Given the description of an element on the screen output the (x, y) to click on. 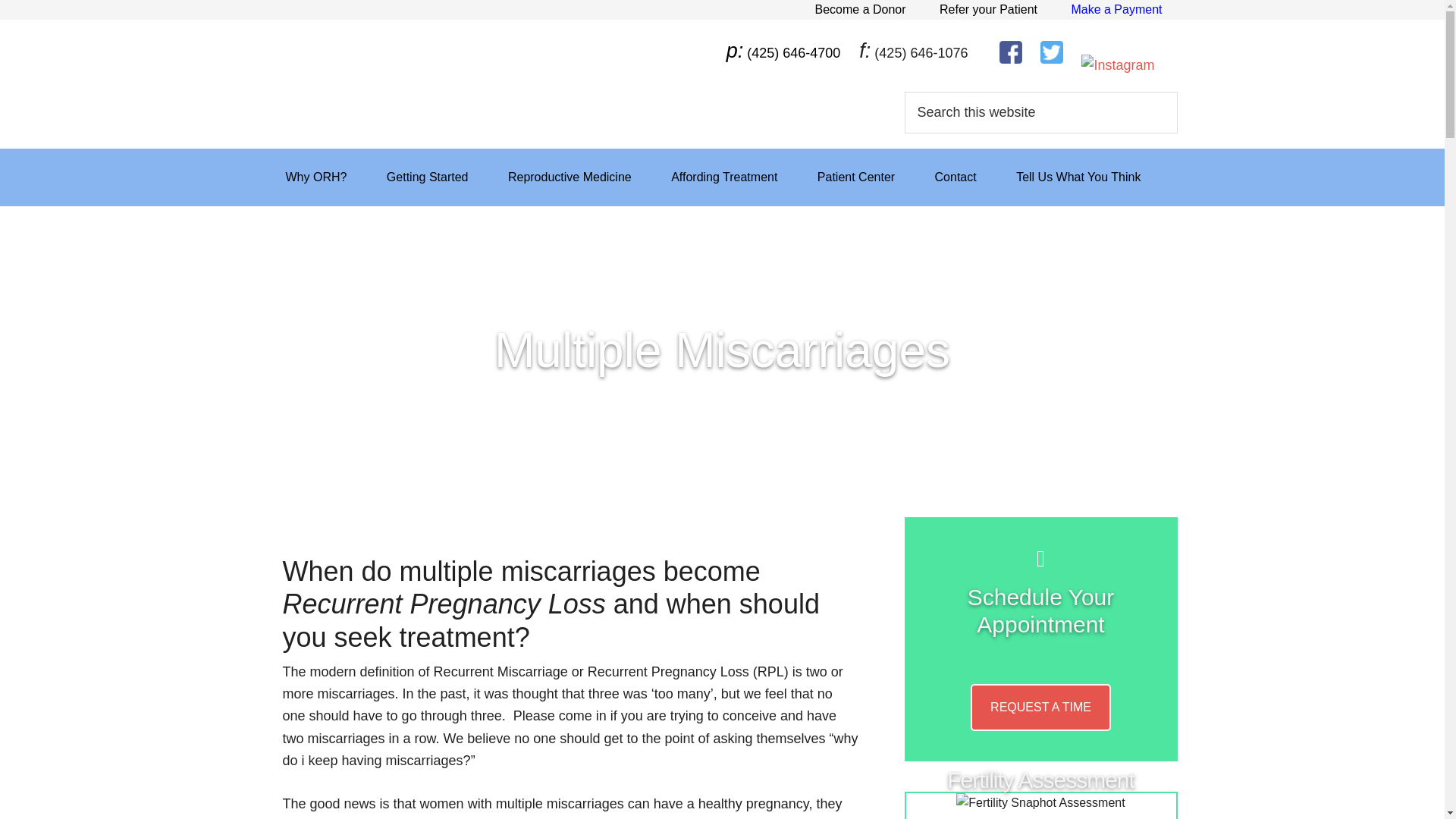
Become a Donor (860, 9)
Why ORH? (315, 177)
Refer your Patient (988, 9)
Overlake Reproductive Health (418, 78)
Getting Started (427, 177)
Reproductive Medicine (569, 177)
Make a Payment (1115, 9)
